Given the description of an element on the screen output the (x, y) to click on. 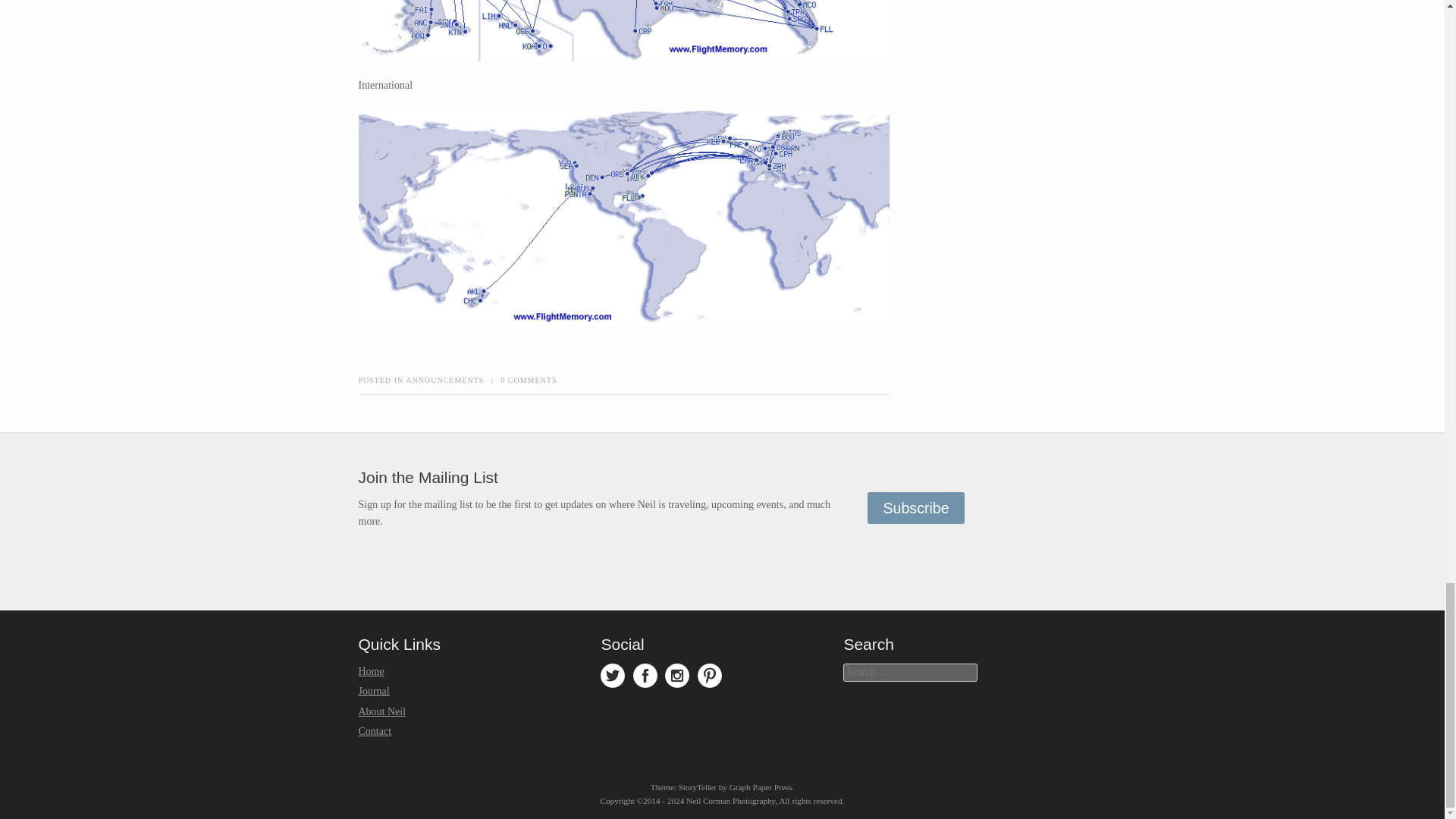
About Neil (382, 711)
Graph Paper Press (760, 786)
Neil Corman Photography (729, 800)
Journal (373, 690)
Home (371, 671)
ANNOUNCEMENTS (444, 379)
StoryTeller (697, 786)
StoryTeller WordPress Theme (697, 786)
0 COMMENTS (528, 379)
Contact (374, 731)
Subscribe (915, 508)
